Given the description of an element on the screen output the (x, y) to click on. 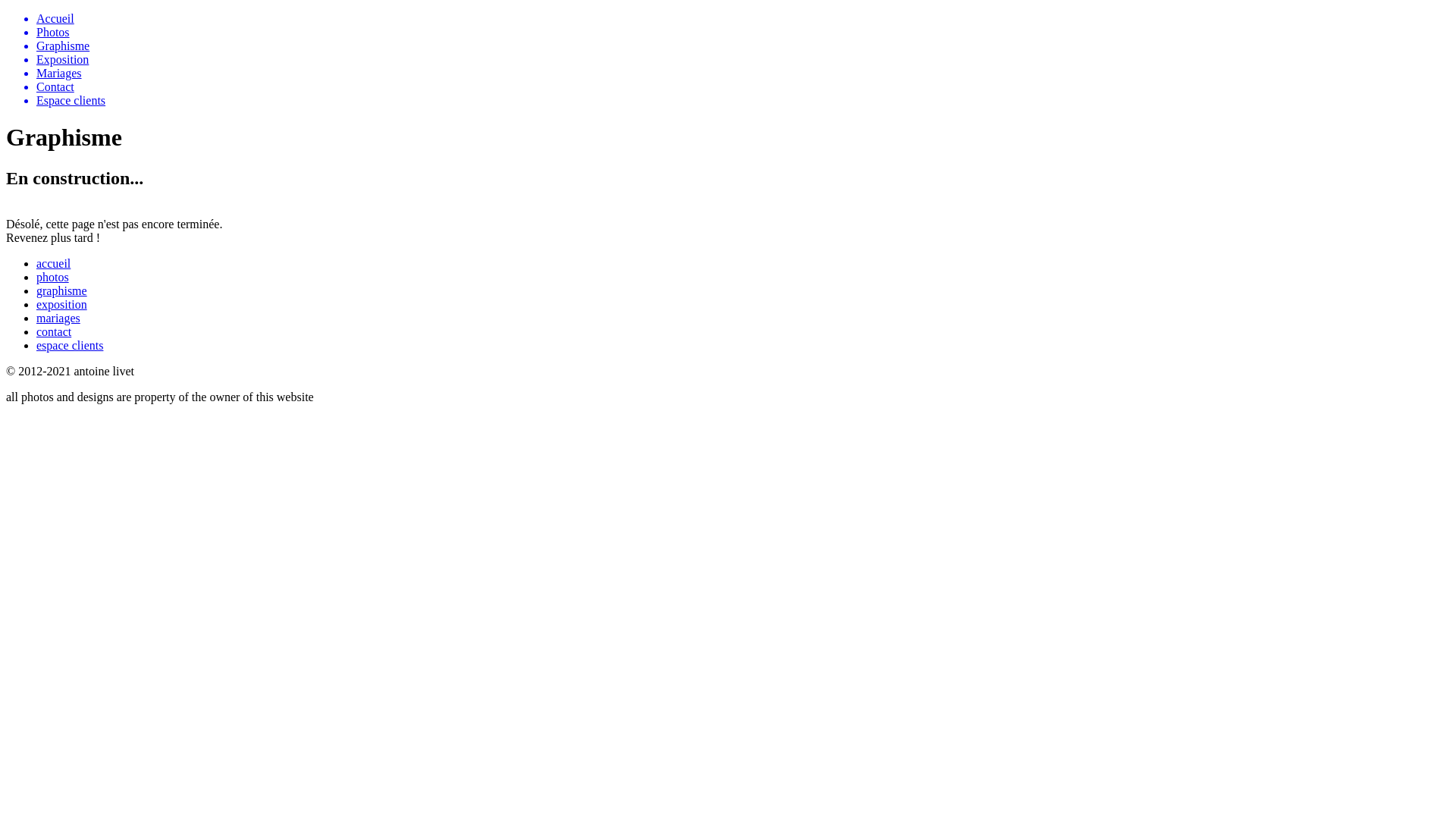
Mariages Element type: text (742, 73)
Accueil Element type: text (742, 18)
Photos Element type: text (742, 32)
contact Element type: text (53, 331)
Graphisme Element type: text (742, 46)
Contact Element type: text (742, 87)
Exposition Element type: text (742, 59)
mariages Element type: text (58, 317)
espace clients Element type: text (69, 344)
photos Element type: text (52, 276)
Espace clients Element type: text (742, 100)
accueil Element type: text (53, 263)
exposition Element type: text (61, 304)
graphisme Element type: text (61, 290)
